Given the description of an element on the screen output the (x, y) to click on. 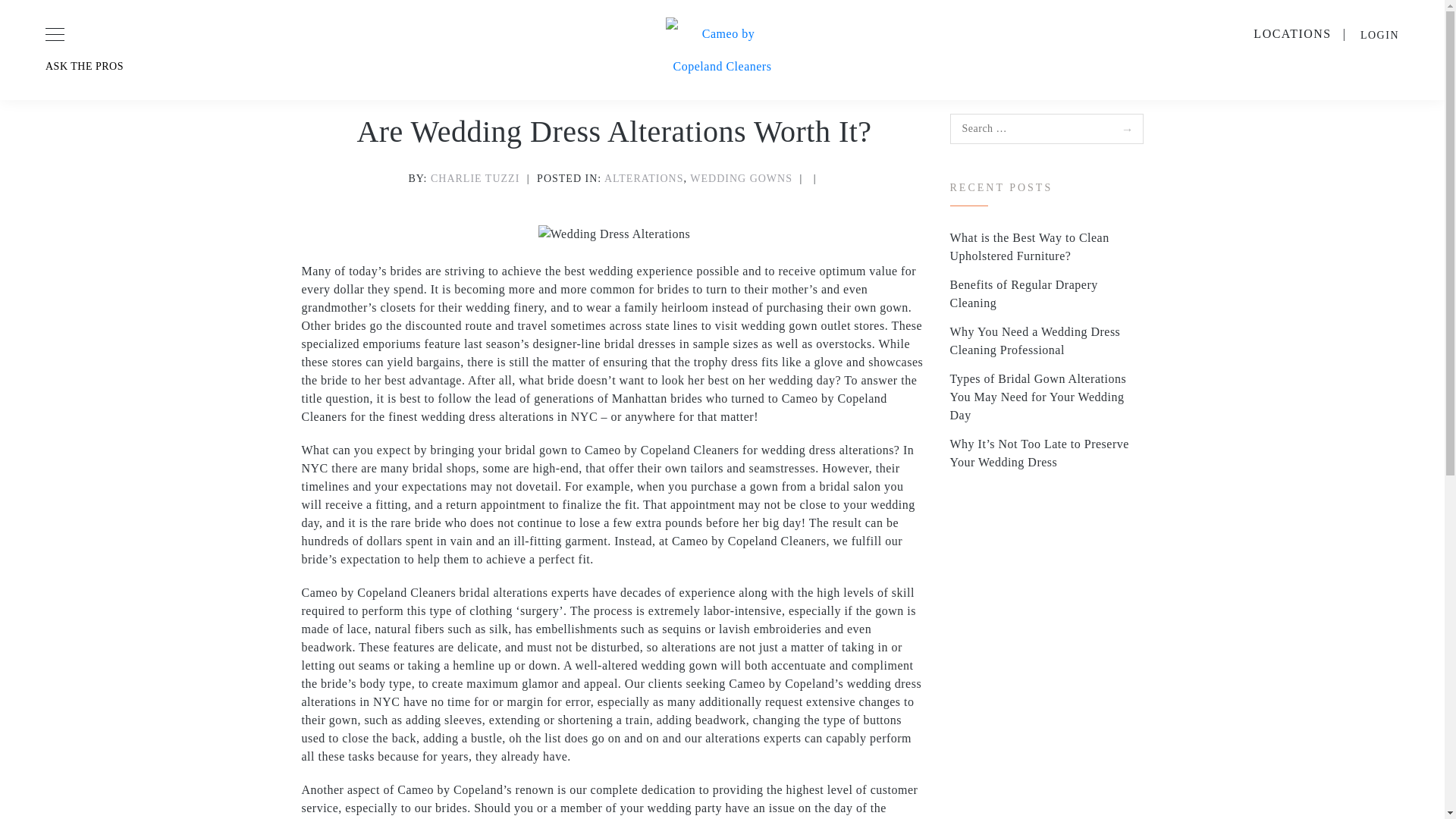
ASK THE PROS (263, 65)
ASK THE PROS (263, 65)
LOCATIONS (1291, 33)
Posts by Charlie Tuzzi (474, 178)
LOGIN (1379, 35)
